Given the description of an element on the screen output the (x, y) to click on. 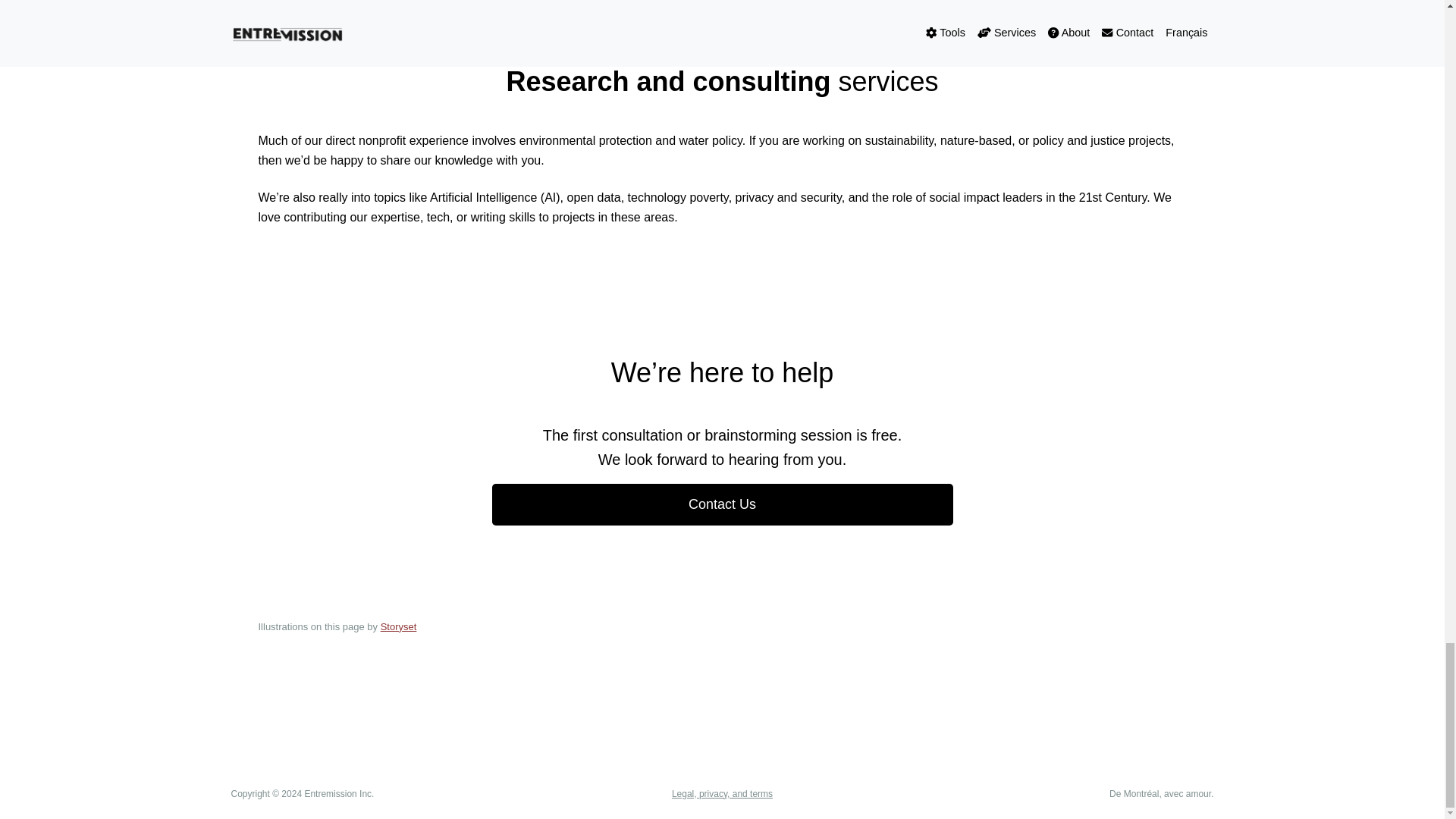
Storyset (398, 626)
Legal, privacy, and terms (722, 793)
Contact Us (722, 504)
